Given the description of an element on the screen output the (x, y) to click on. 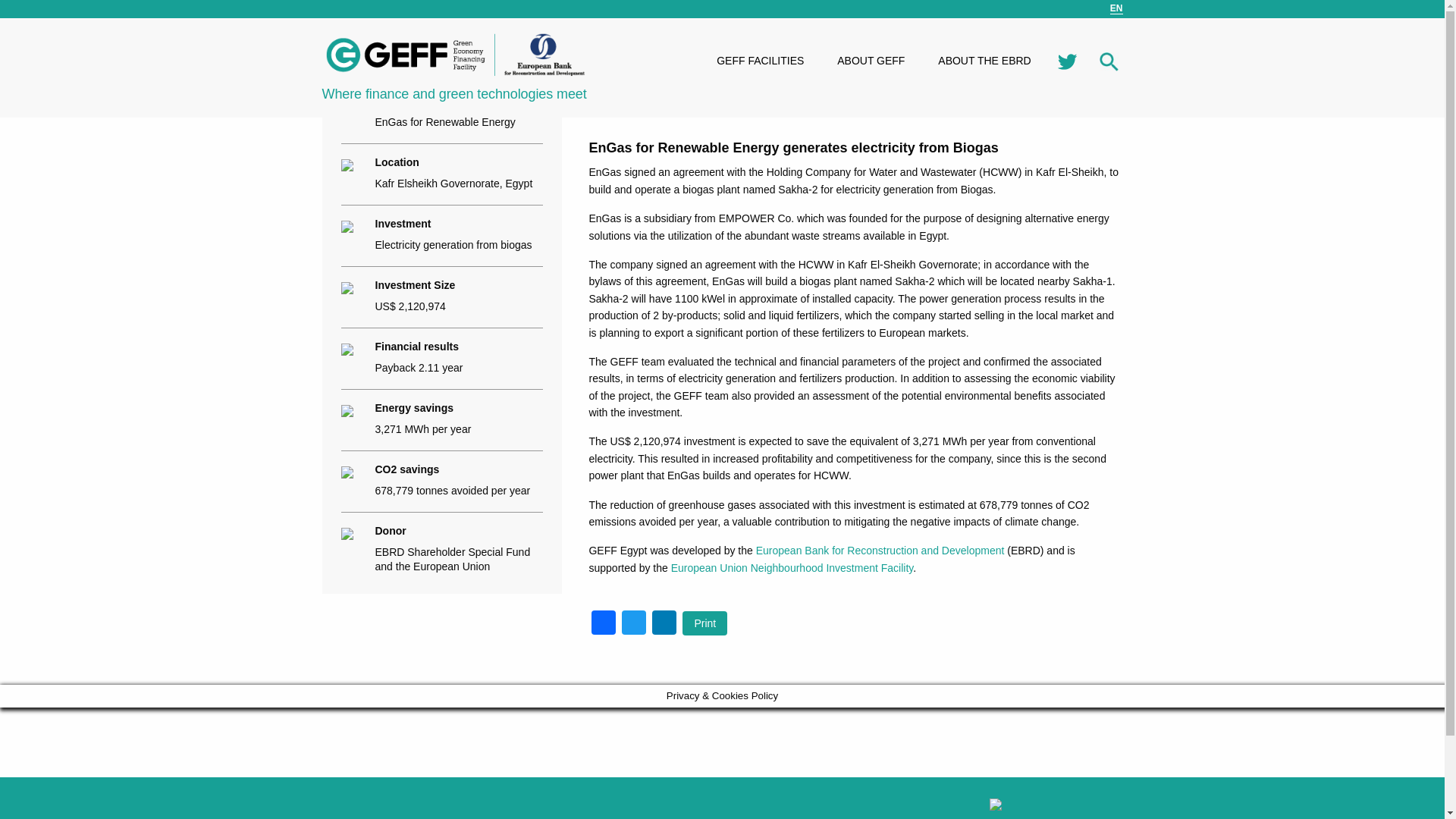
LinkedIn (664, 624)
GEFF FACILITIES (759, 60)
ABOUT GEFF (870, 60)
Where finance and green technologies meet (454, 78)
Twitter (633, 624)
ABOUT THE EBRD (983, 60)
Facebook (603, 624)
